Given the description of an element on the screen output the (x, y) to click on. 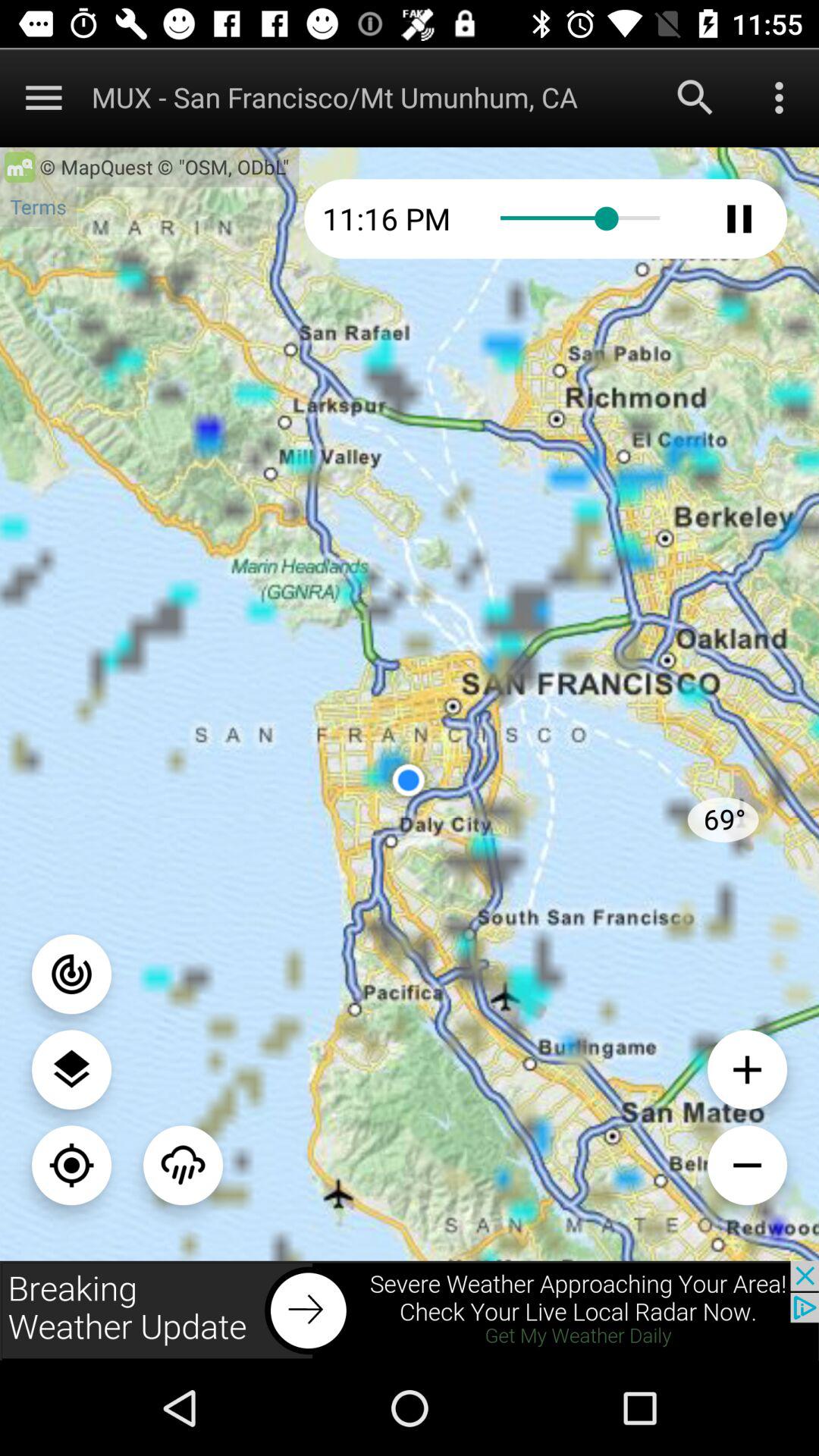
on button (71, 974)
